Given the description of an element on the screen output the (x, y) to click on. 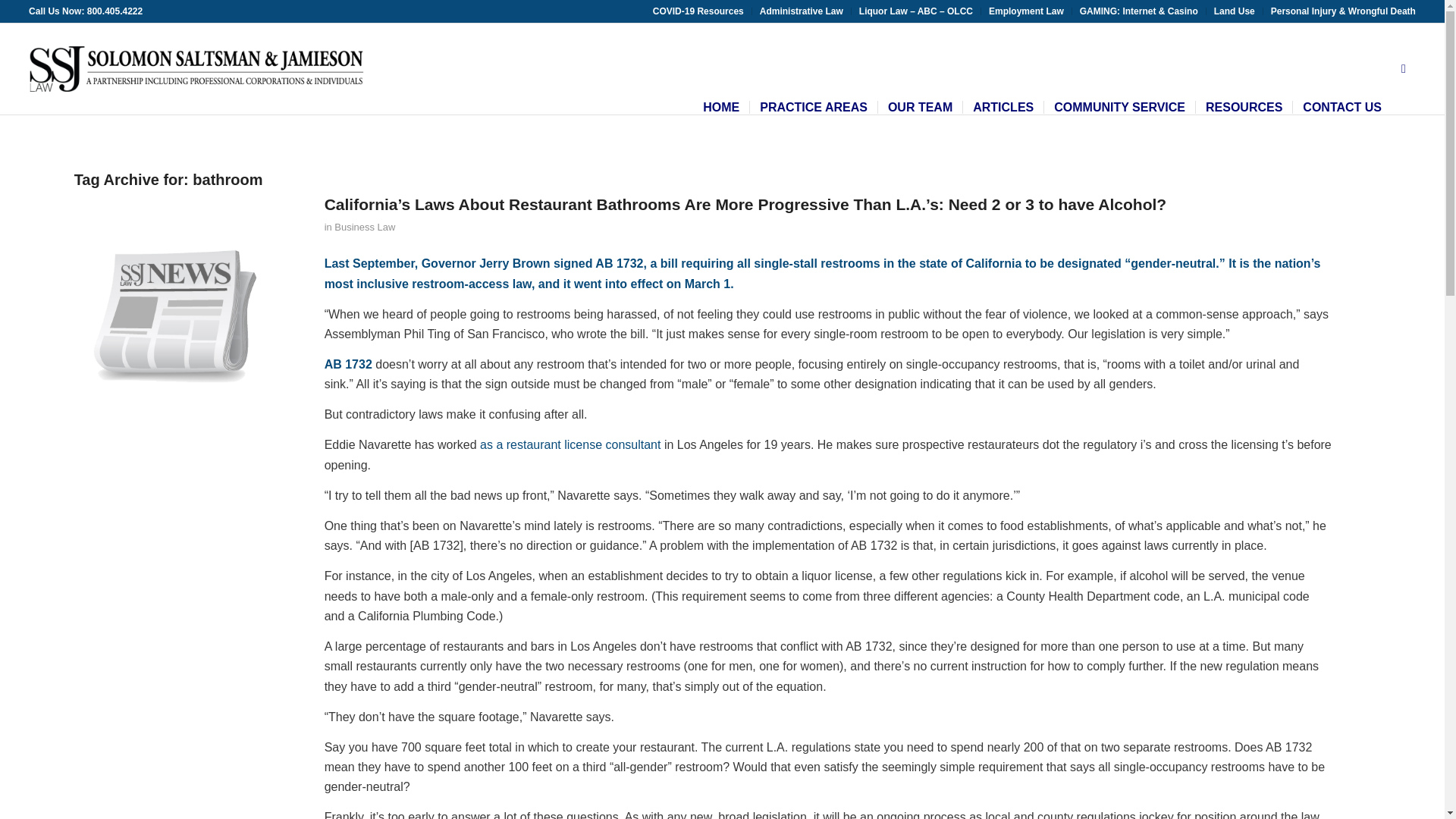
PRACTICE AREAS (813, 68)
Employment Law (1026, 11)
ARTICLES (1002, 68)
COMMUNITY SERVICE (1119, 68)
SSJLaw-Attorneys-Logo530 (196, 68)
OUR TEAM (919, 68)
COVID-19 Resources (698, 11)
Business Law (364, 226)
Land Use (1234, 11)
RESOURCES (1243, 68)
CONTACT US (1341, 68)
as a restaurant license consultant (570, 444)
Administrative Law (801, 11)
